Given the description of an element on the screen output the (x, y) to click on. 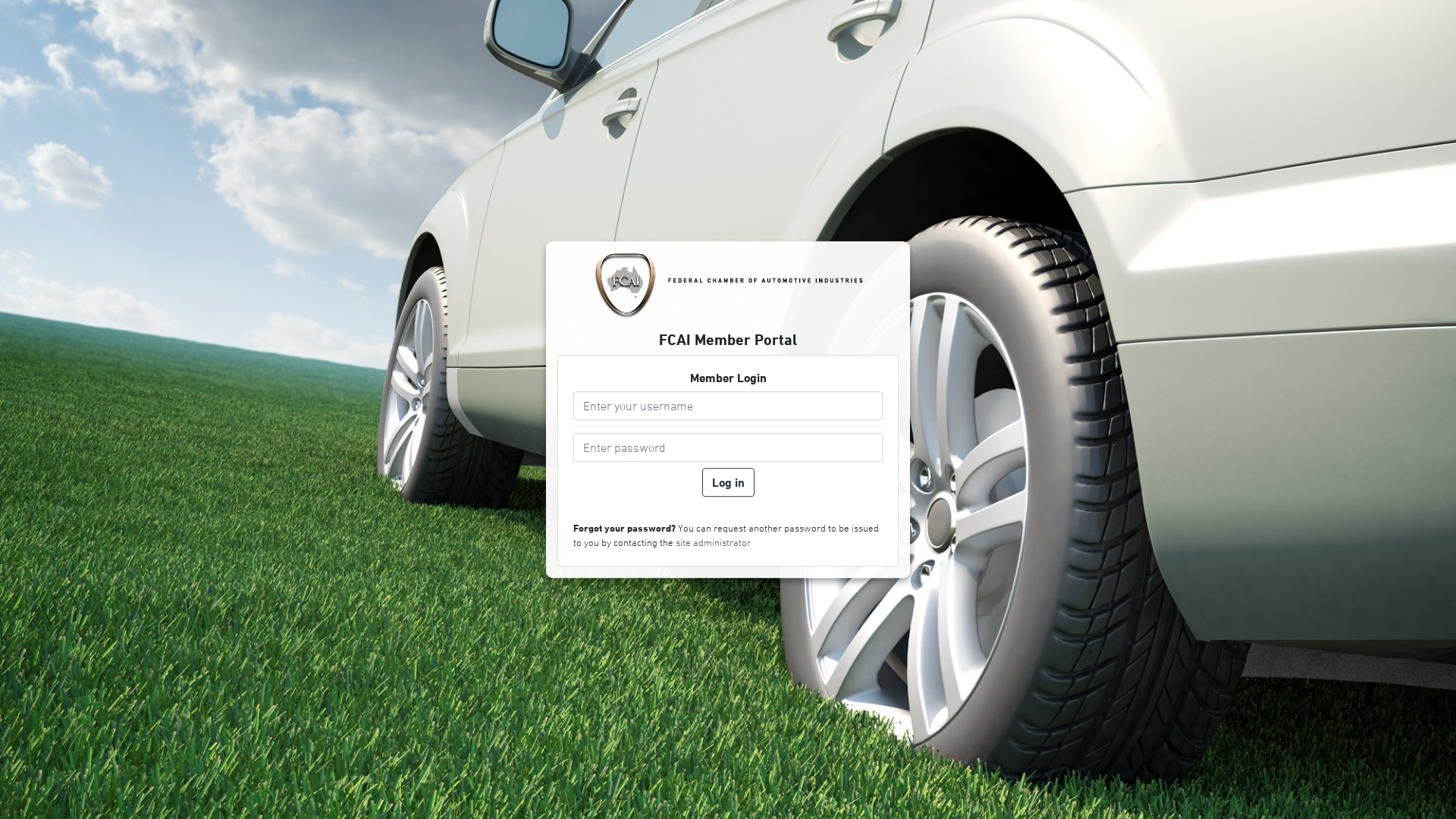
Log in Element type: text (728, 481)
site administrator Element type: text (712, 542)
